Given the description of an element on the screen output the (x, y) to click on. 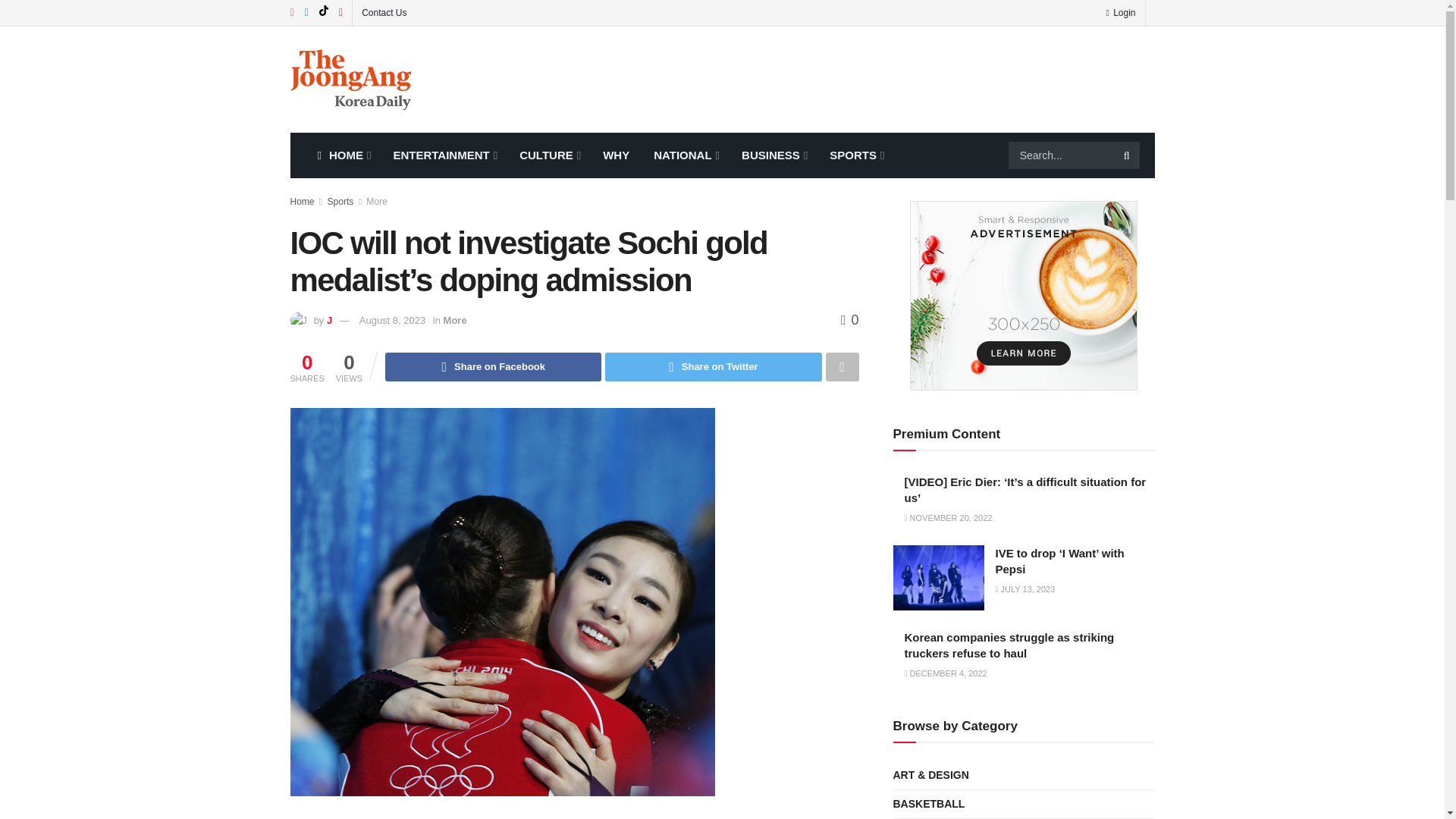
Contact Us (383, 12)
Login (1120, 12)
HOME (342, 155)
WHY (616, 155)
CULTURE (548, 155)
ENTERTAINMENT (443, 155)
NATIONAL (685, 155)
